Given the description of an element on the screen output the (x, y) to click on. 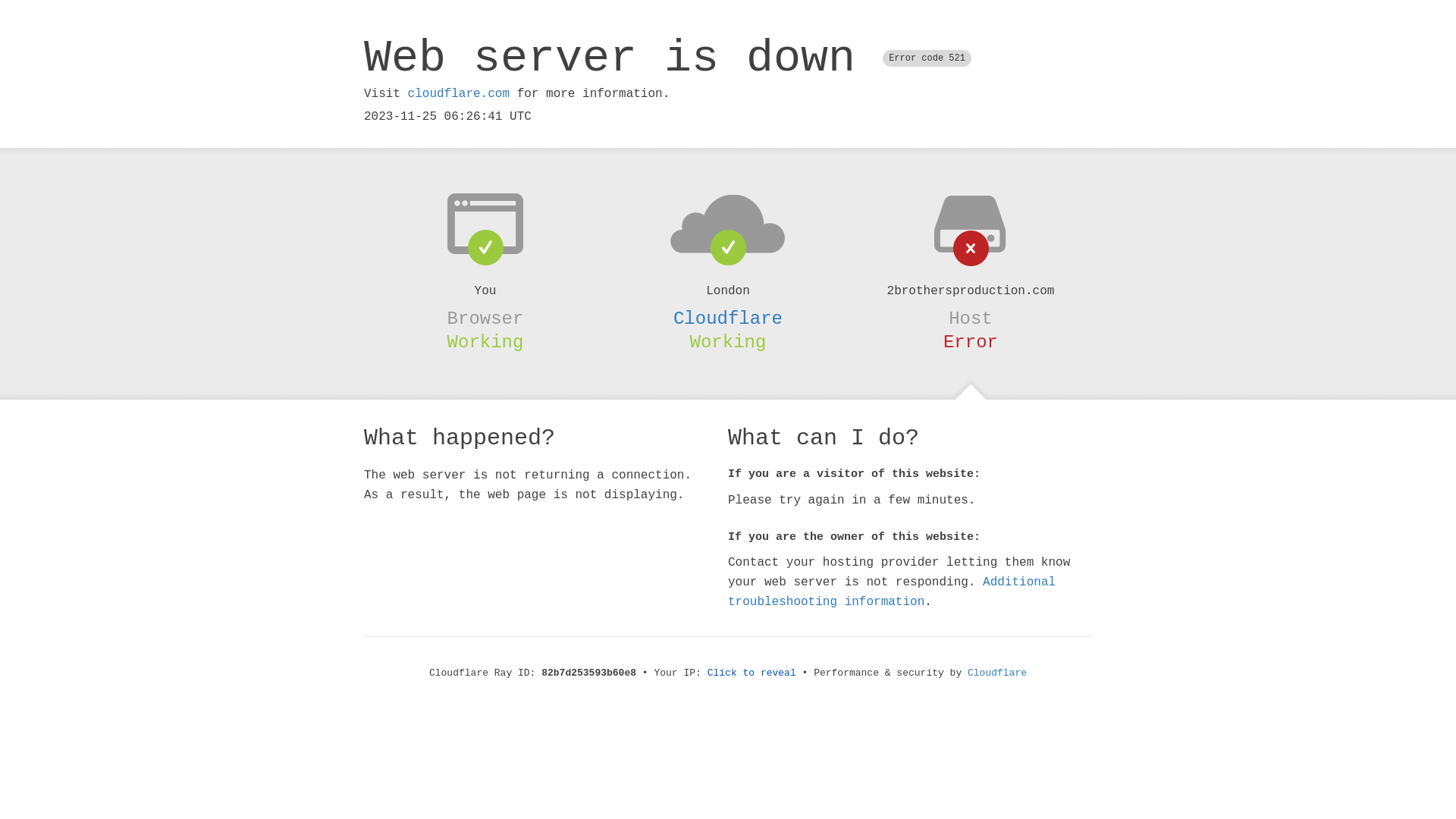
Click to reveal Element type: text (751, 672)
Cloudflare Element type: text (727, 318)
Cloudflare Element type: text (996, 672)
Additional troubleshooting information Element type: text (891, 591)
cloudflare.com Element type: text (458, 93)
